Given the description of an element on the screen output the (x, y) to click on. 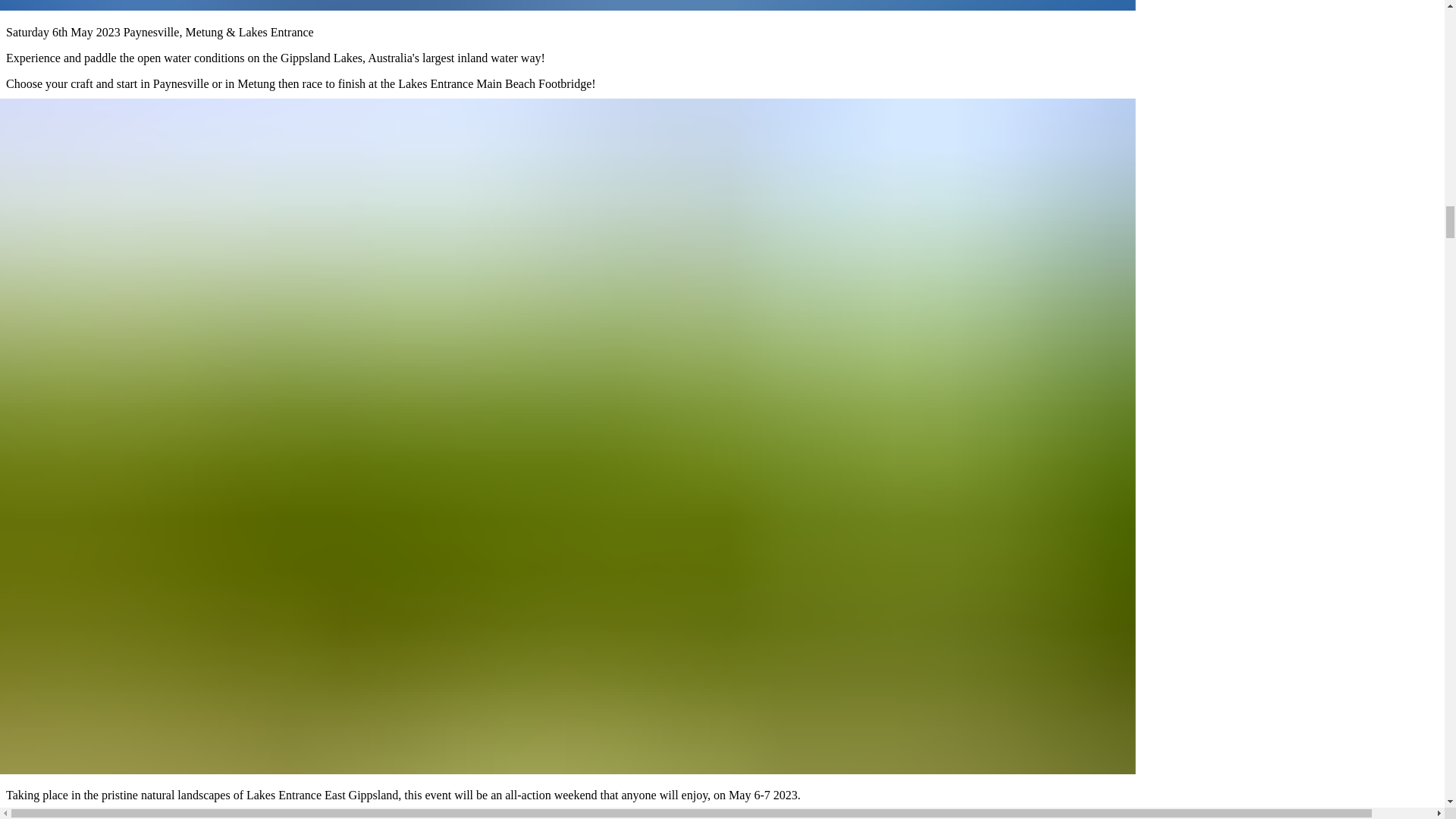
register here (364, 109)
